Given the description of an element on the screen output the (x, y) to click on. 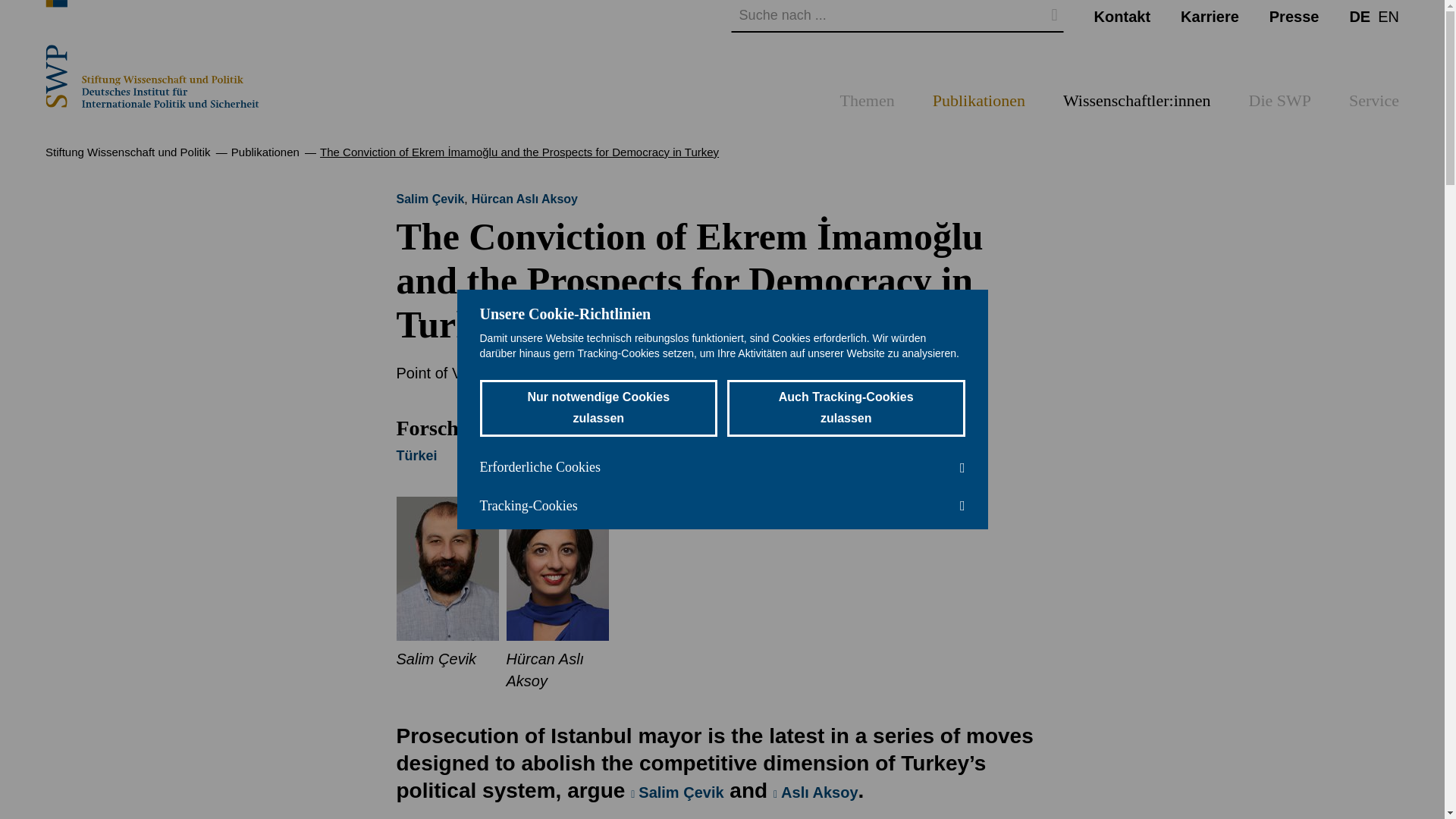
Presse (1294, 15)
englisch (1388, 15)
Karriere (1209, 15)
Kontakt (1122, 15)
Deutsch (1359, 15)
EN (1388, 15)
Themen (867, 104)
